Given the description of an element on the screen output the (x, y) to click on. 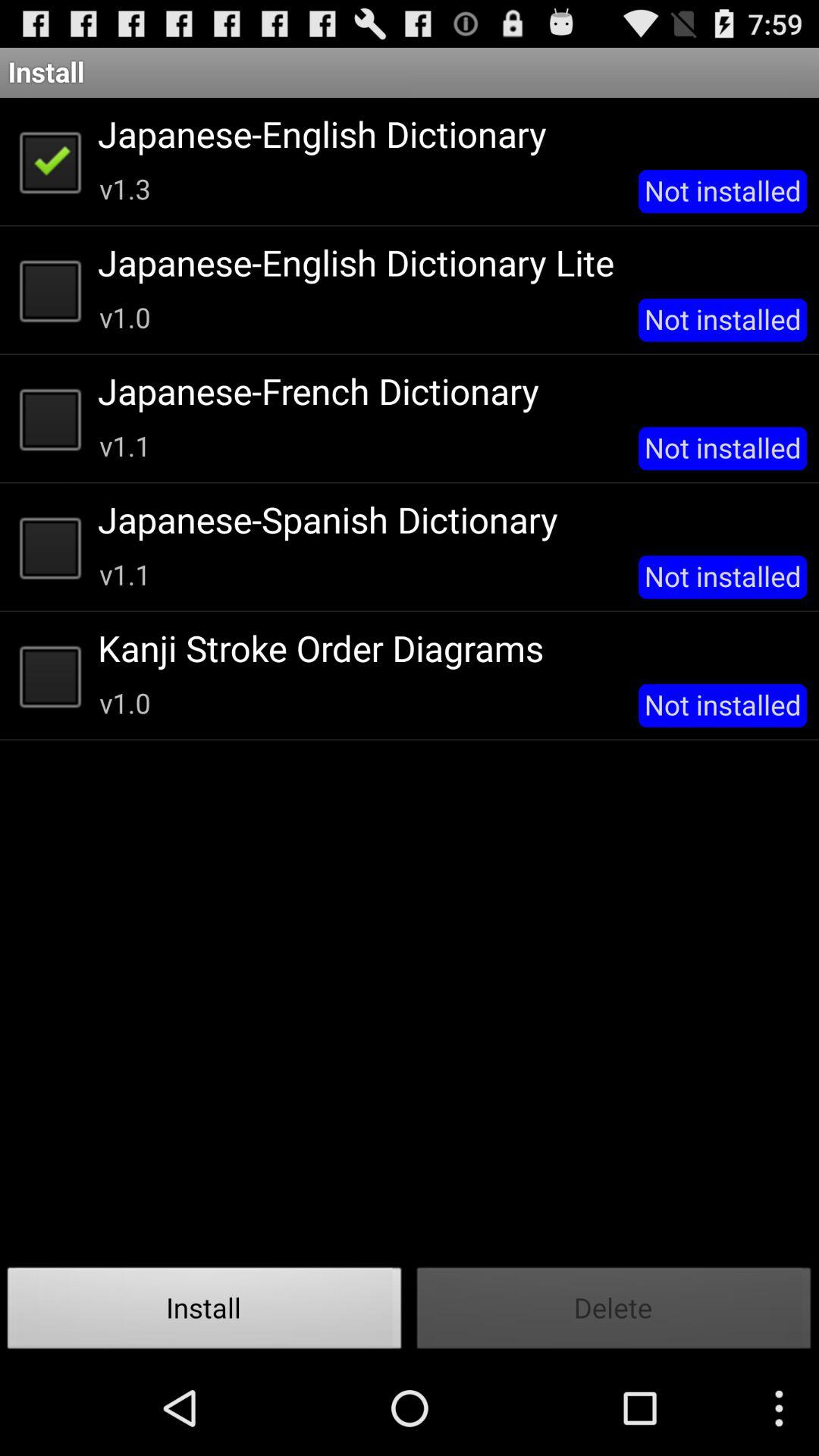
turn off item next to install item (614, 1312)
